Given the description of an element on the screen output the (x, y) to click on. 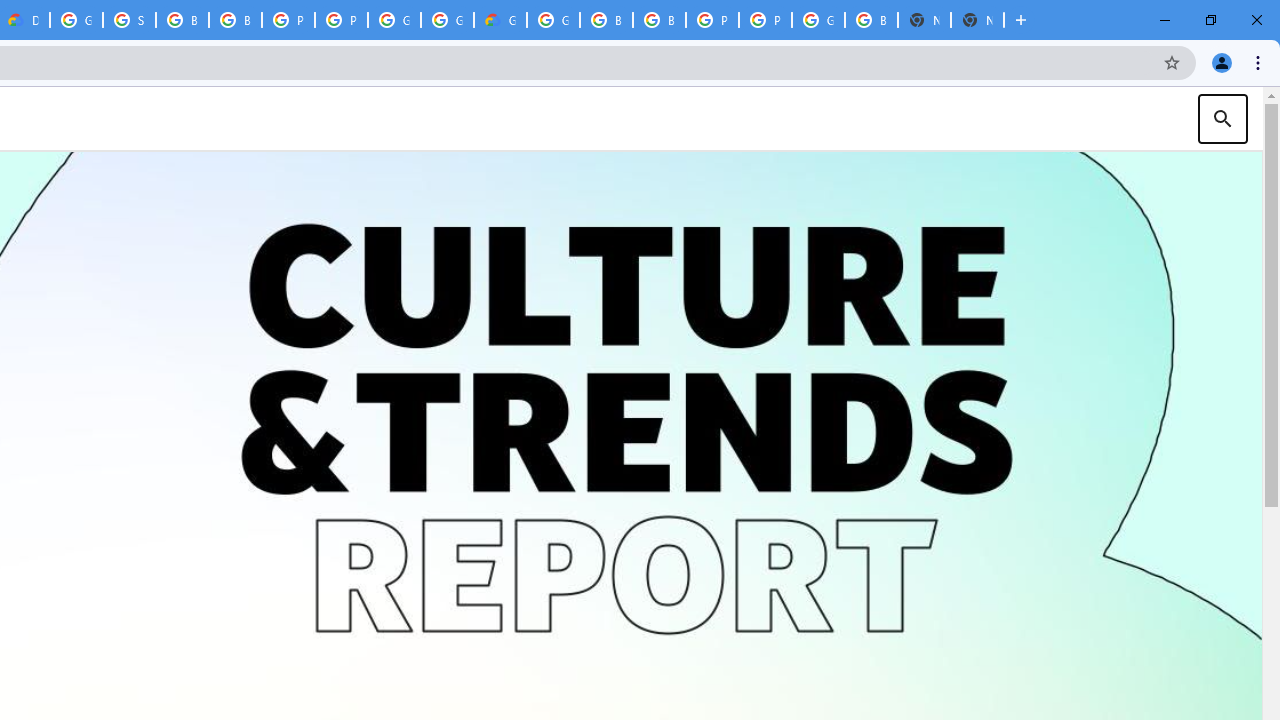
Browse Chrome as a guest - Computer - Google Chrome Help (182, 20)
Google Cloud Platform (553, 20)
Search (1222, 118)
Browse Chrome as a guest - Computer - Google Chrome Help (606, 20)
New Tab (977, 20)
